Given the description of an element on the screen output the (x, y) to click on. 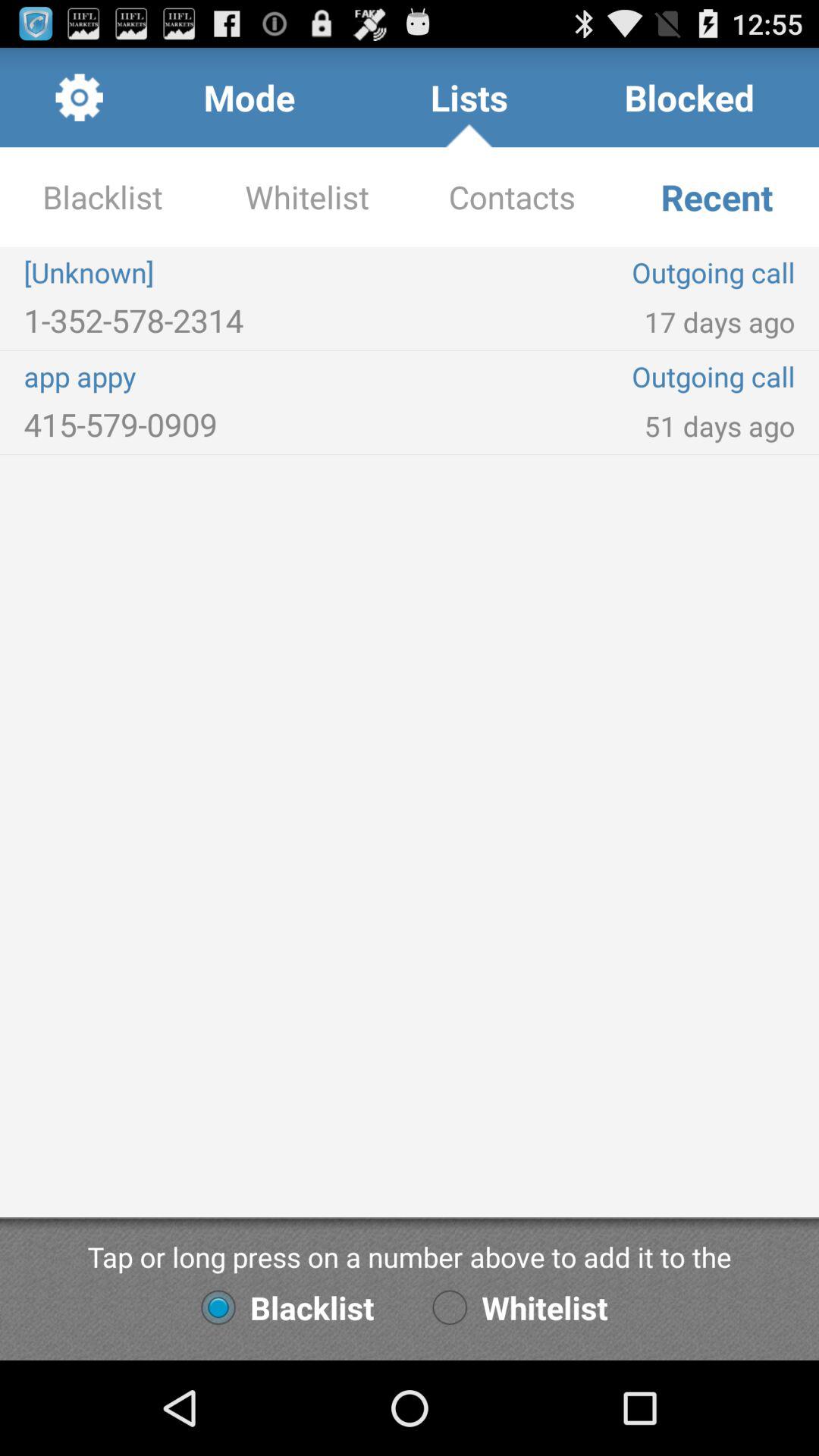
scroll until 415-579-0909 (216, 423)
